Given the description of an element on the screen output the (x, y) to click on. 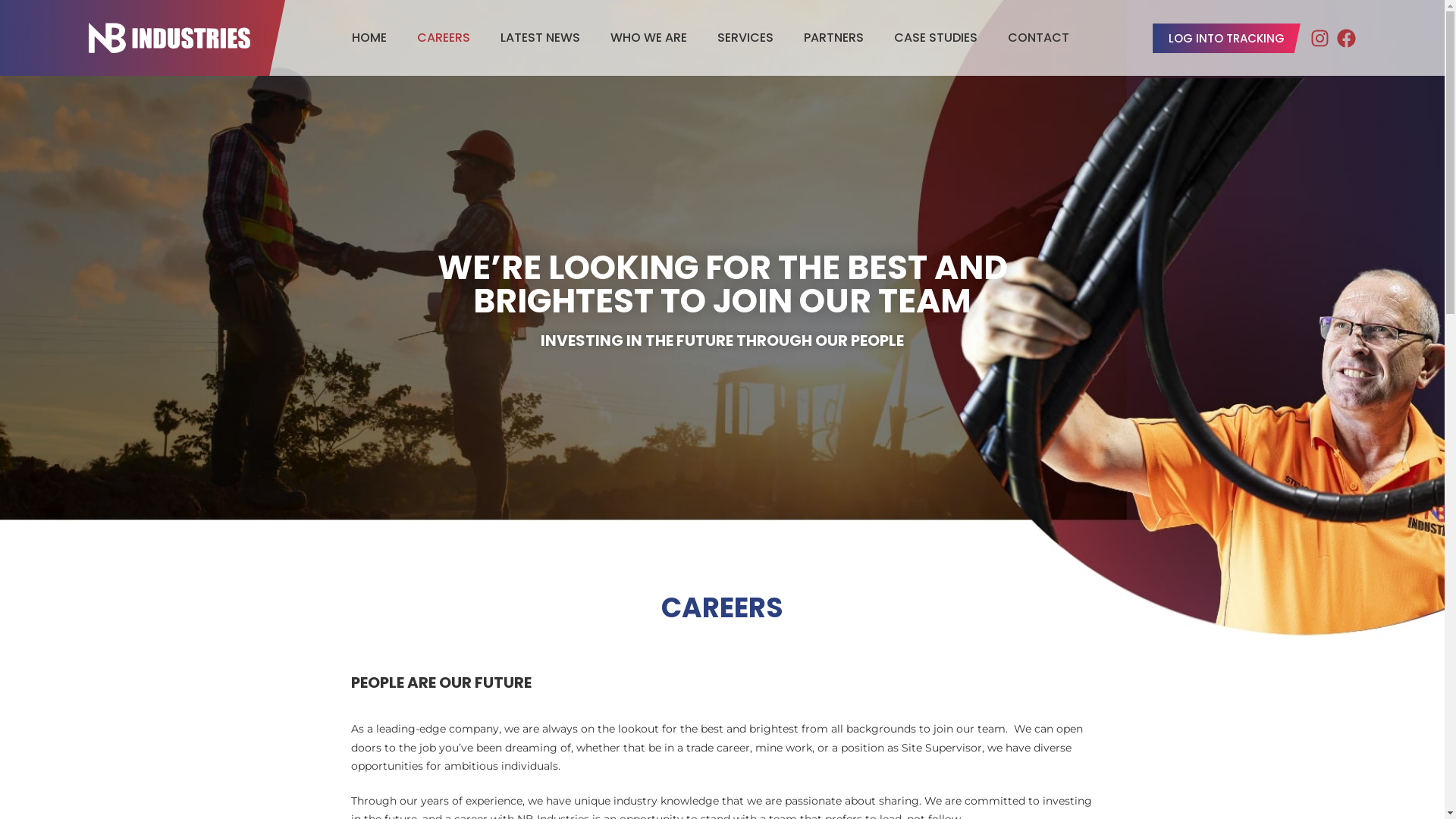
CONTACT Element type: text (1038, 37)
LATEST NEWS Element type: text (540, 37)
SERVICES Element type: text (745, 37)
WHO WE ARE Element type: text (648, 37)
CAREERS Element type: text (443, 37)
PARTNERS Element type: text (833, 37)
HOME Element type: text (368, 37)
LOG INTO TRACKING Element type: text (1226, 37)
CASE STUDIES Element type: text (935, 37)
